Given the description of an element on the screen output the (x, y) to click on. 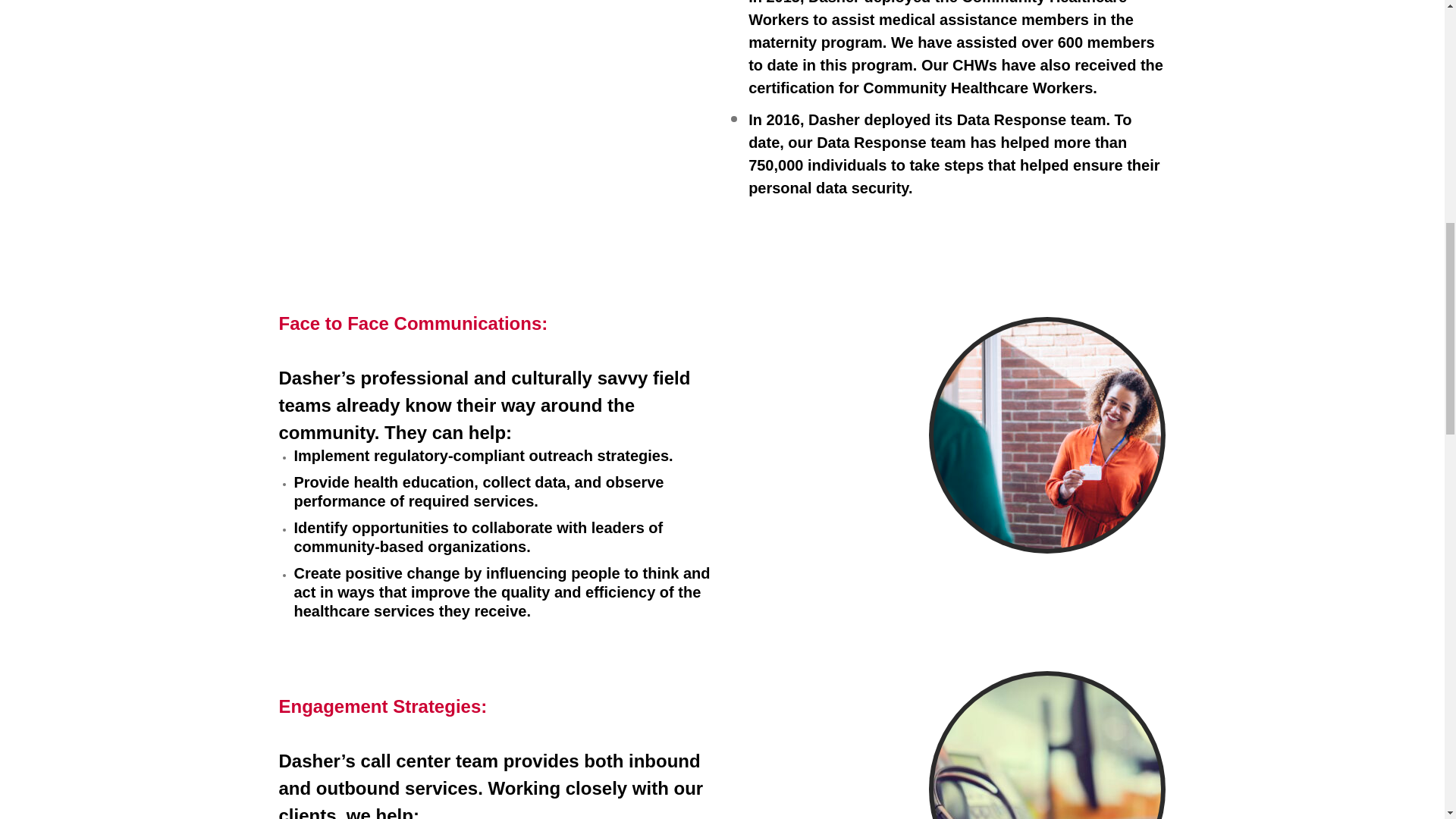
qtq80-7lxrtM (1046, 747)
I'll be helping you today! (1046, 434)
